Given the description of an element on the screen output the (x, y) to click on. 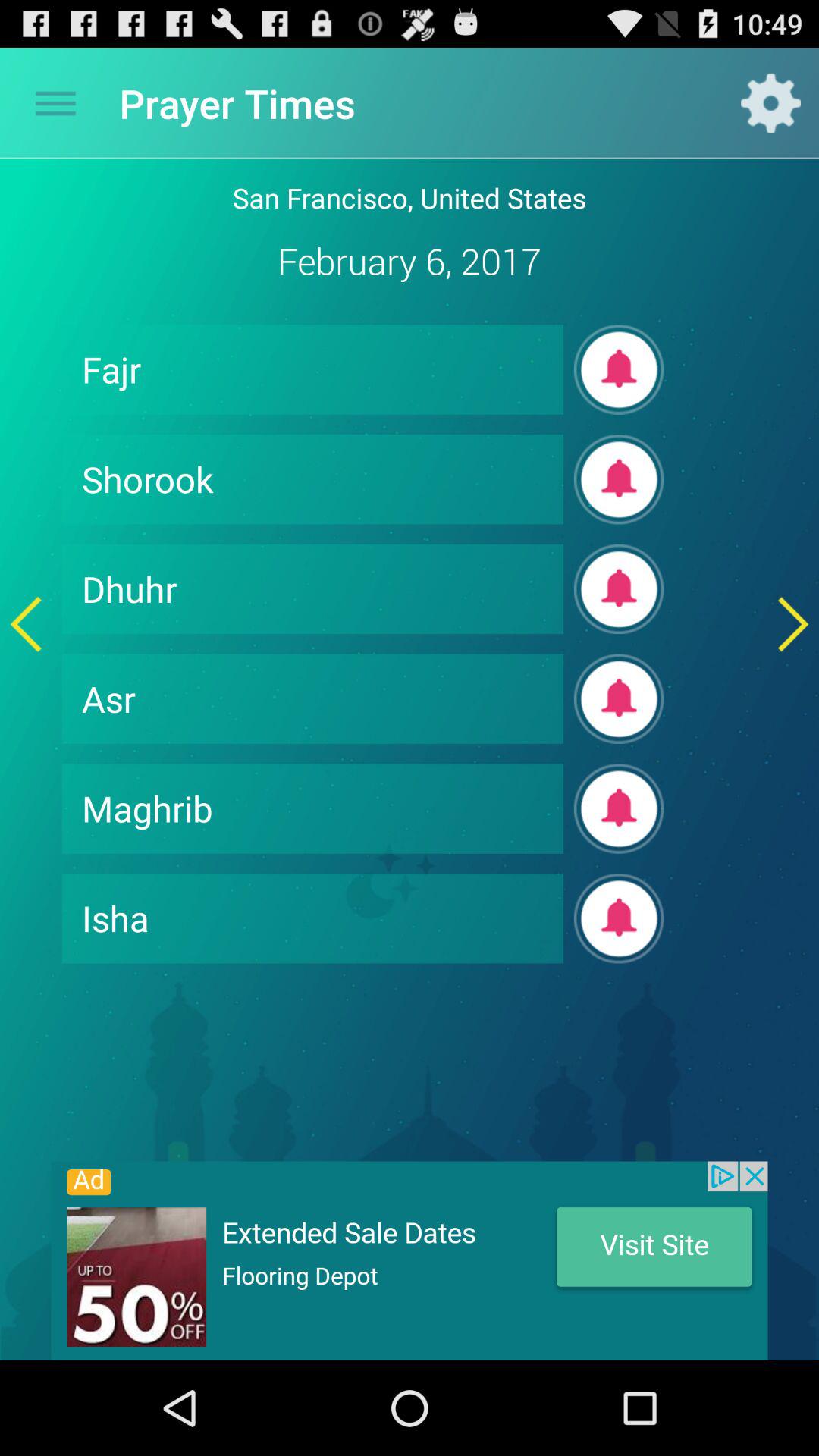
motifications (618, 808)
